Given the description of an element on the screen output the (x, y) to click on. 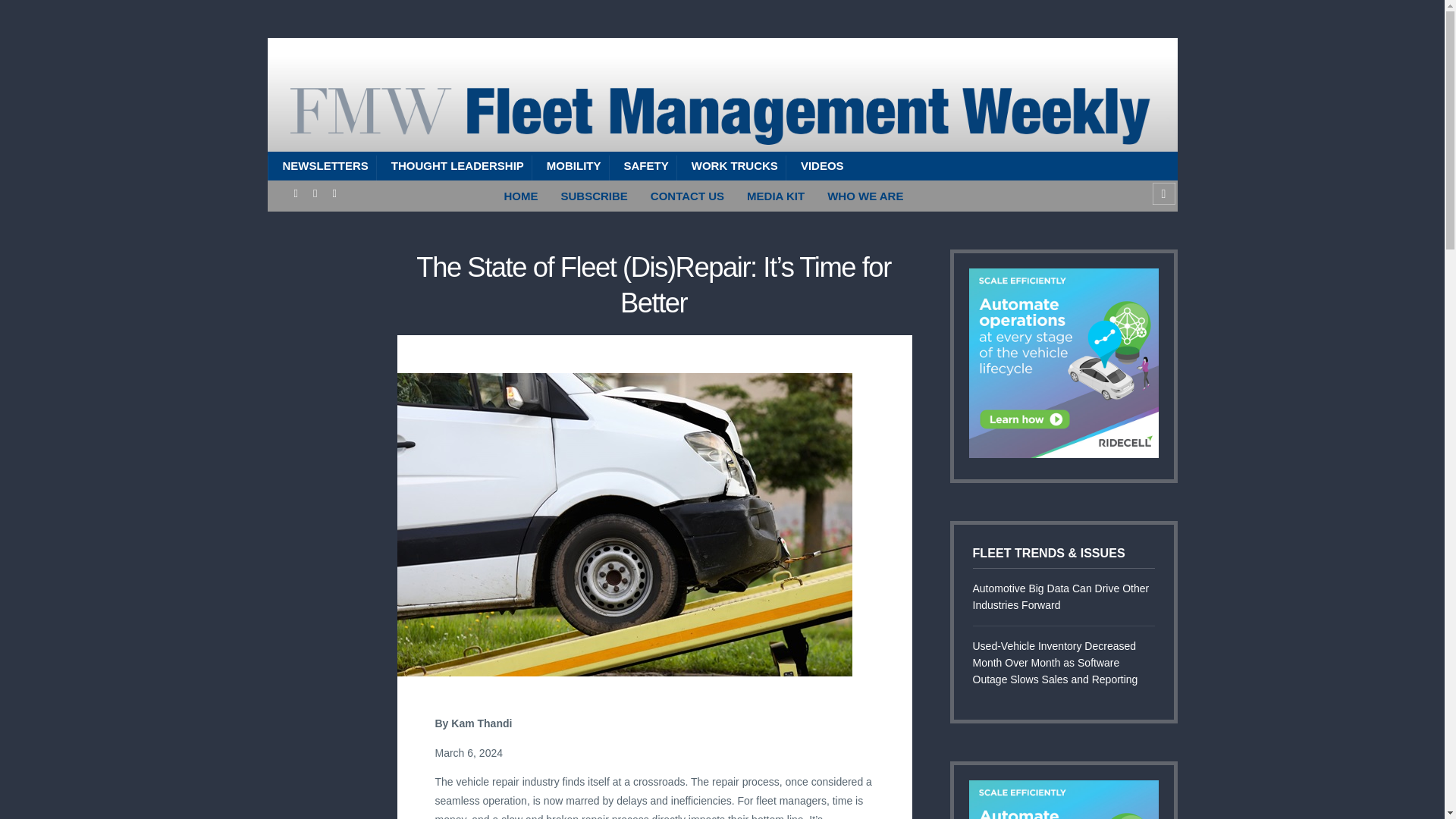
SUBSCRIBE (593, 195)
Facebook (295, 193)
Automotive Big Data Can Drive Other Industries Forward (1063, 597)
WORK TRUCKS (731, 165)
CONTACT US (687, 195)
MOBILITY (569, 165)
THOUGHT LEADERSHIP (453, 165)
MEDIA KIT (775, 195)
Twitter (333, 193)
HOME (521, 195)
SAFETY (642, 165)
WHO WE ARE (864, 195)
LinkedIn (314, 193)
VIDEOS (818, 165)
